Given the description of an element on the screen output the (x, y) to click on. 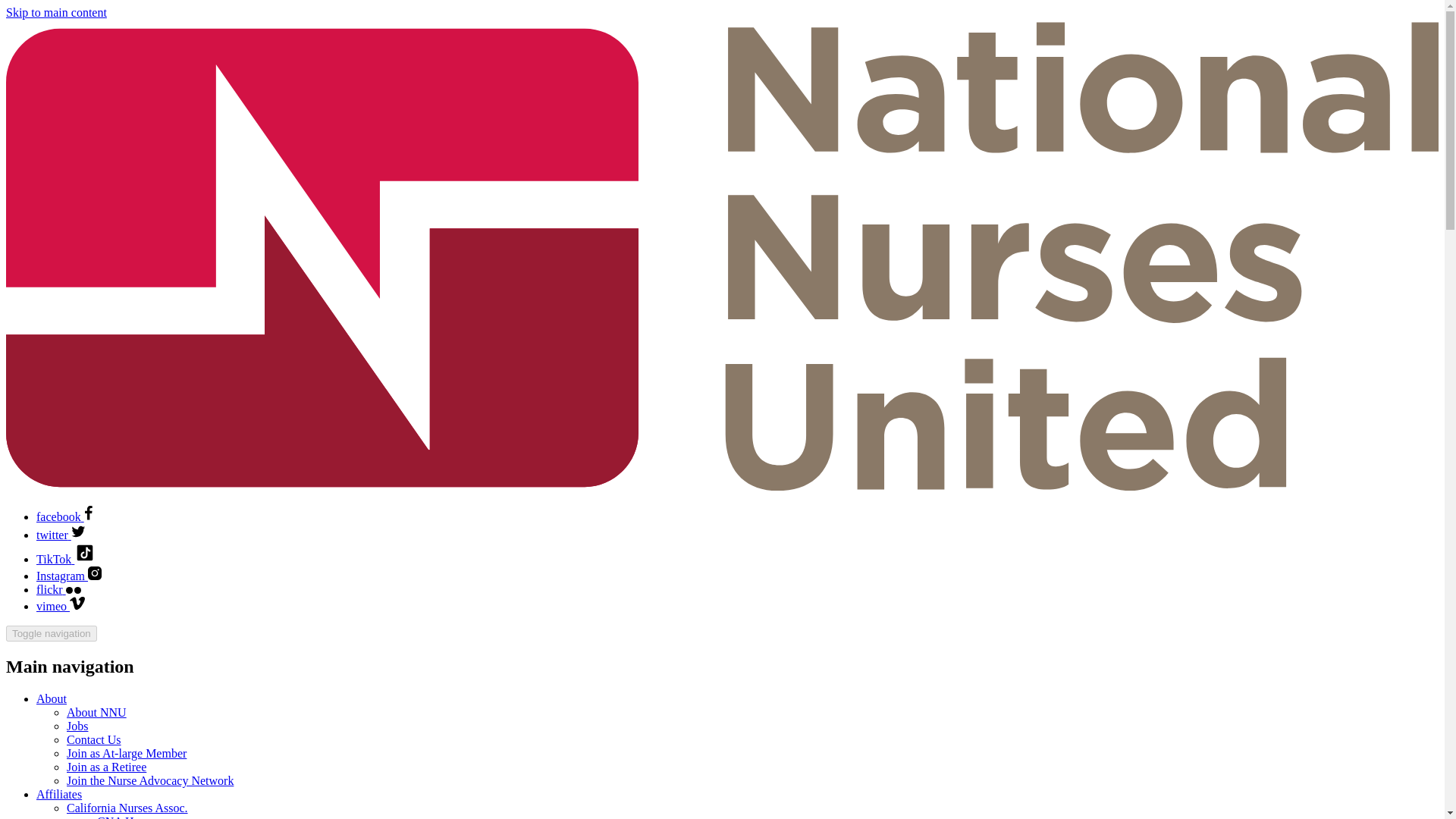
NNU Tiktok (66, 558)
flickr  (58, 589)
vimeo  (60, 605)
Instagram  (68, 575)
Jobs (76, 725)
About (51, 698)
Join as a Retiree (106, 766)
Affiliates (58, 793)
NNU Facebook (64, 516)
CNA Homepage (137, 816)
NNU Flickr (58, 589)
facebook  (64, 516)
twitter  (60, 534)
NNU Twitter (60, 534)
Contact Us (93, 739)
